Given the description of an element on the screen output the (x, y) to click on. 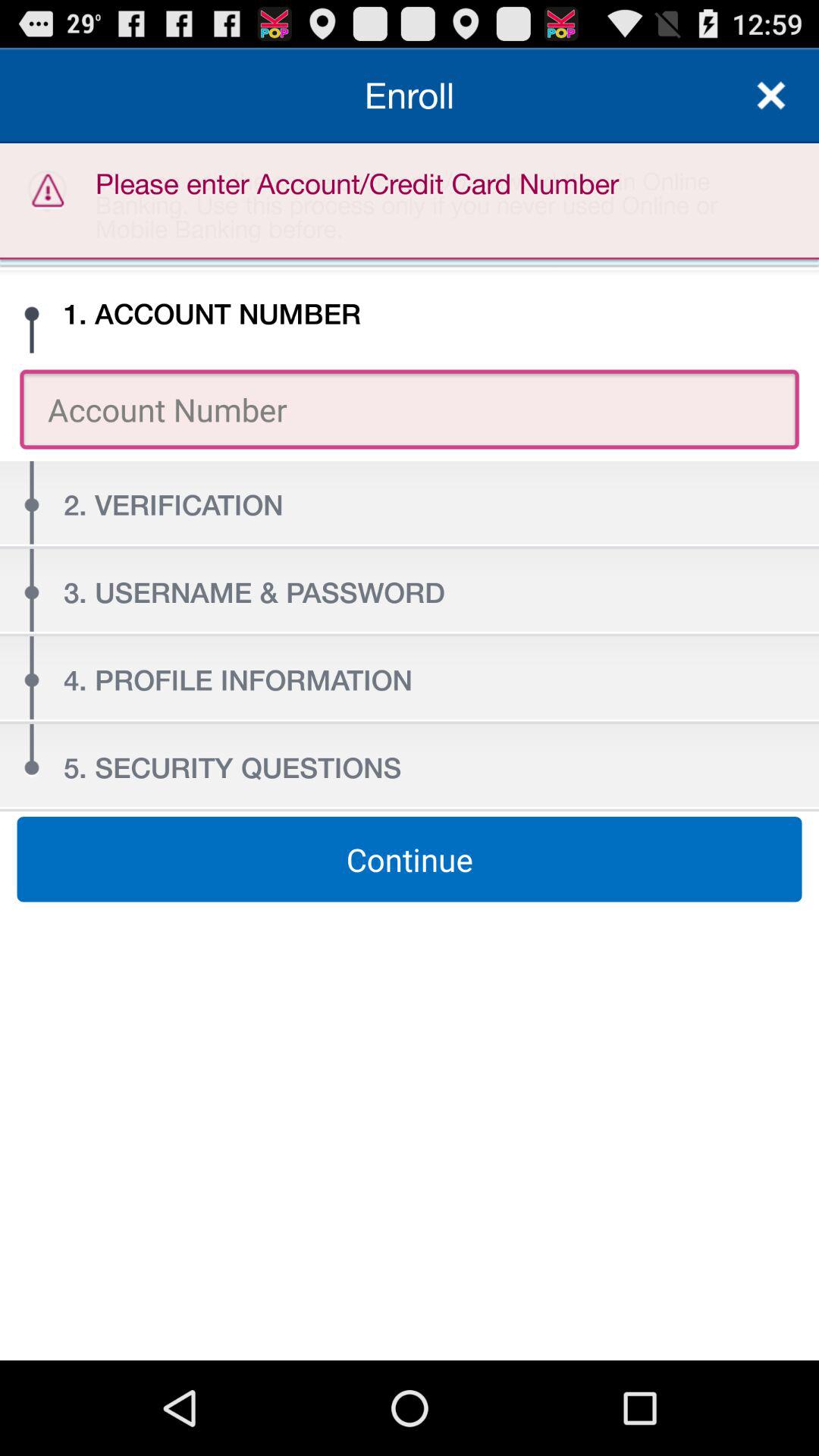
turn on item next to please enter account (771, 95)
